Given the description of an element on the screen output the (x, y) to click on. 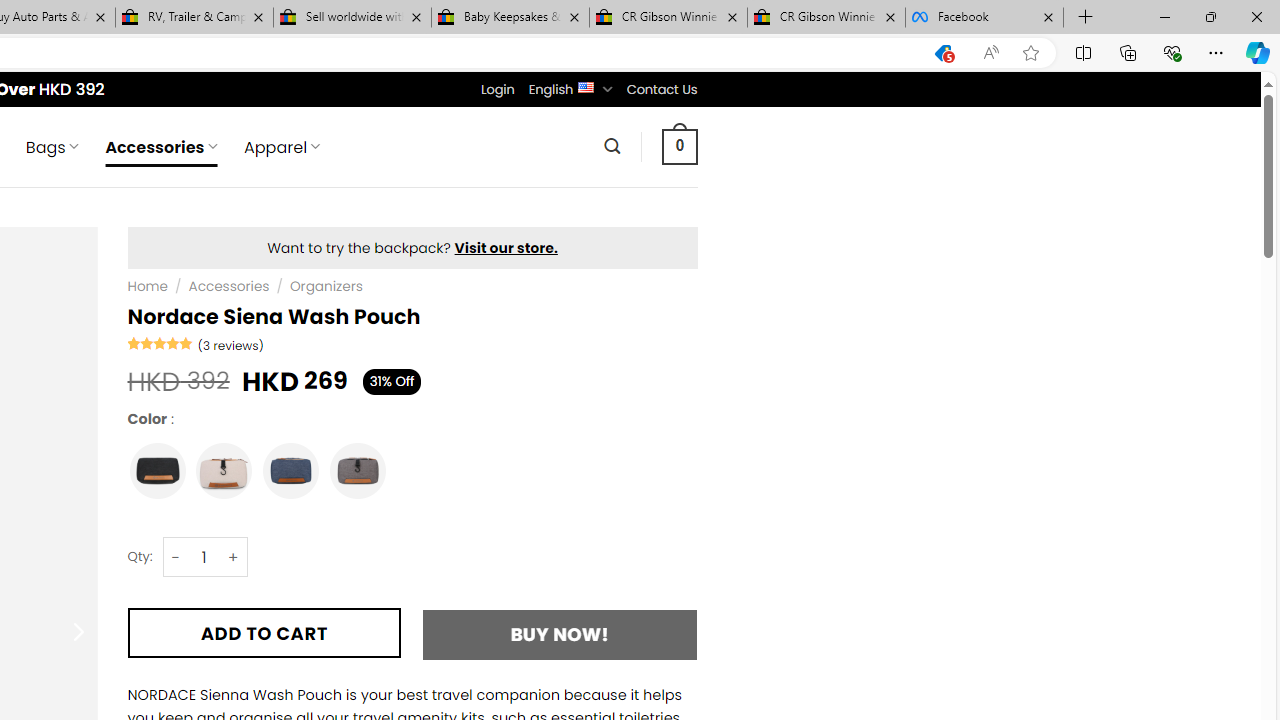
(3 reviews) (230, 344)
Home (147, 286)
This site has coupons! Shopping in Microsoft Edge, 5 (943, 53)
English (586, 86)
- (175, 557)
+ (234, 557)
  0   (679, 146)
